Given the description of an element on the screen output the (x, y) to click on. 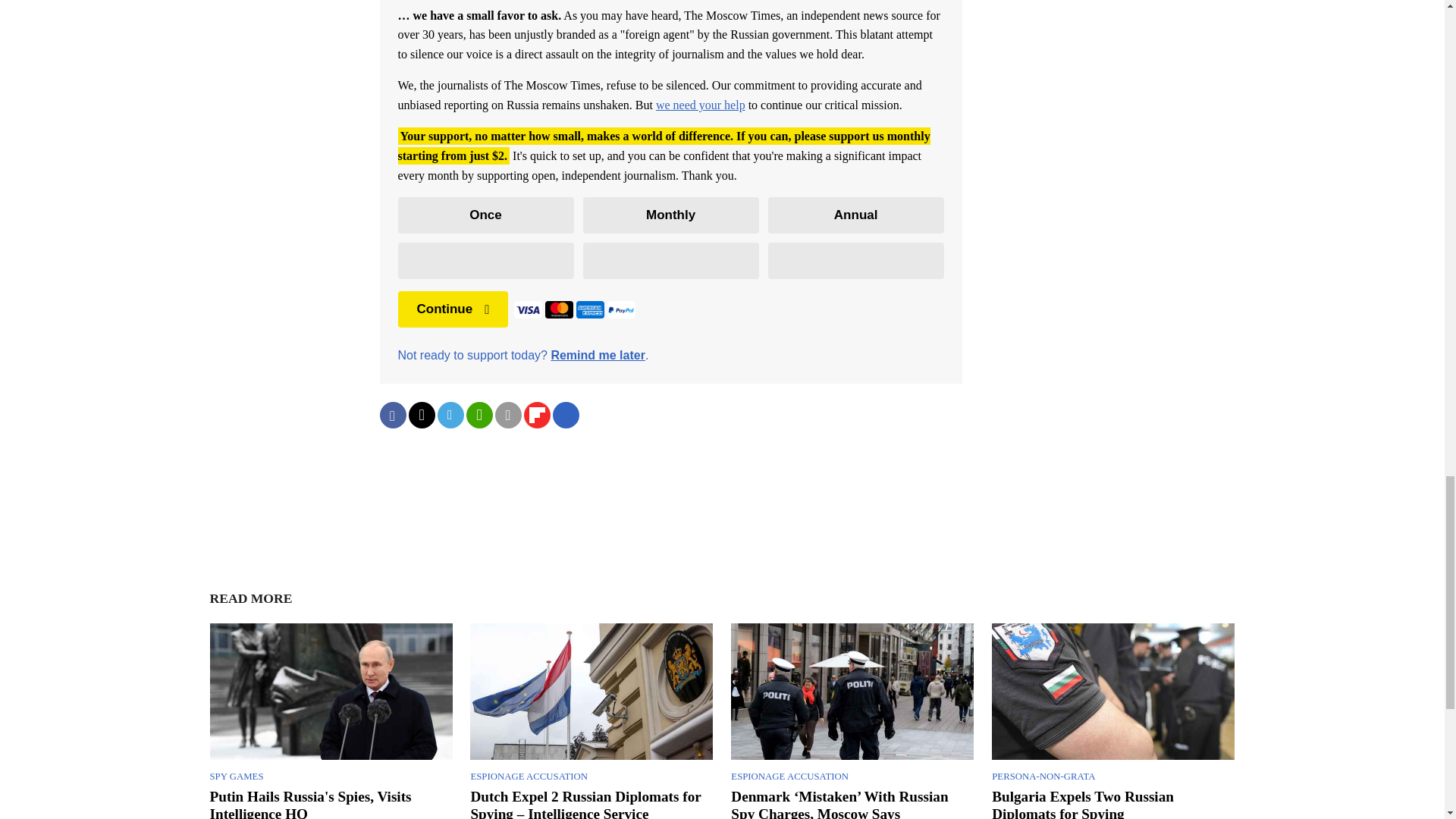
Share on Flipboard (536, 415)
Share with email (508, 415)
Share on Facebook (392, 415)
we need your help (700, 104)
Share on Twitter (420, 415)
Share on WhatsApp (478, 415)
Share on Telegram (449, 415)
